Given the description of an element on the screen output the (x, y) to click on. 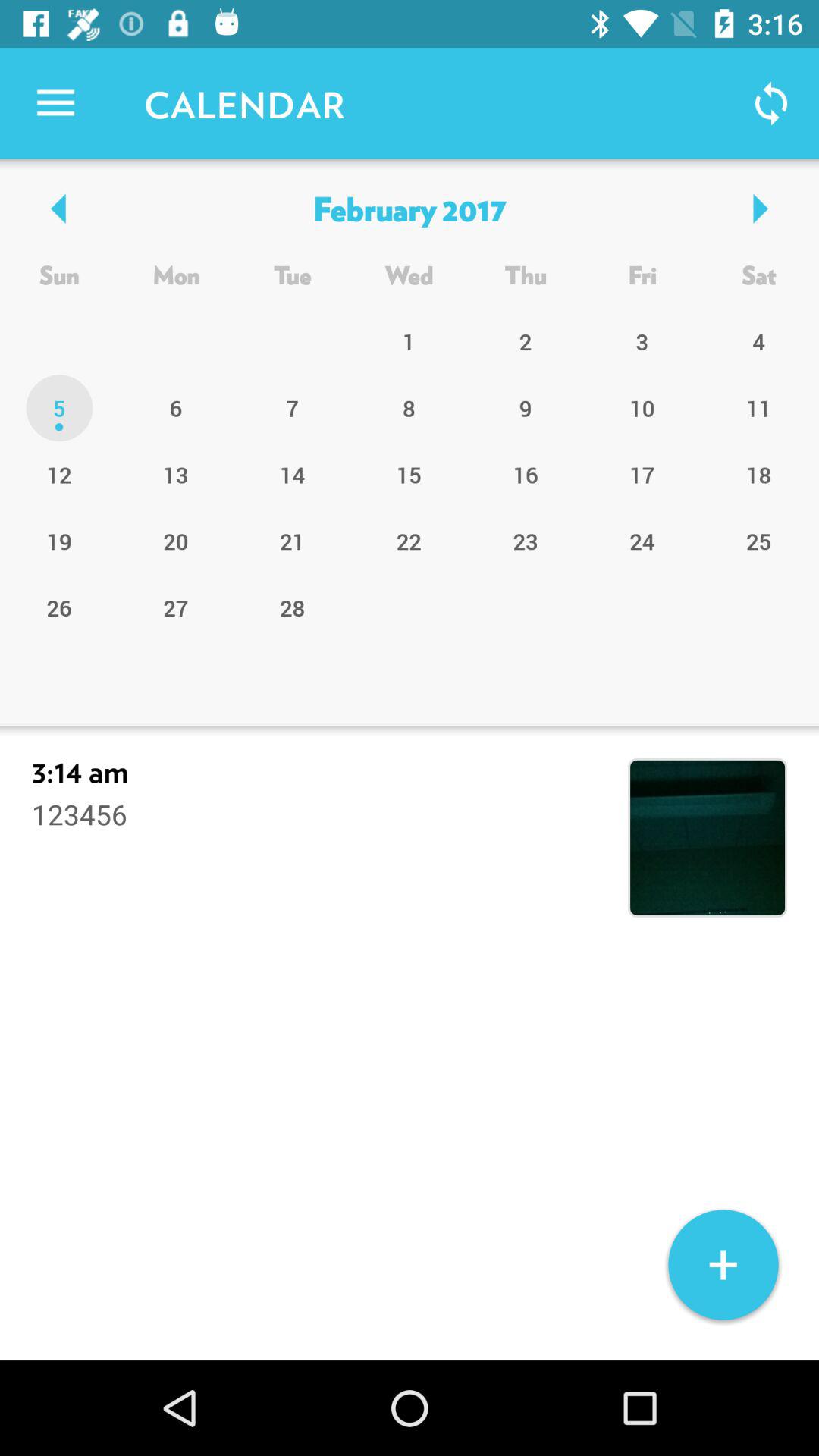
select the 15 item (408, 474)
